Given the description of an element on the screen output the (x, y) to click on. 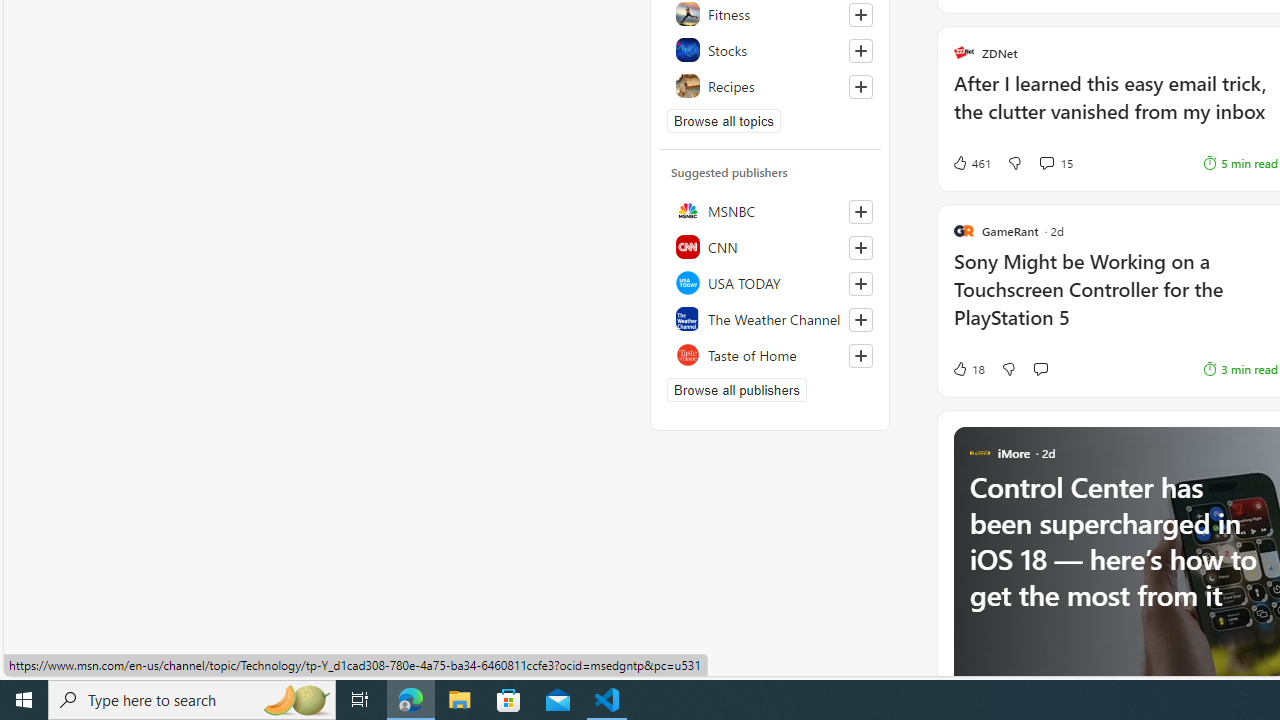
USA TODAY (770, 282)
Follow this topic (860, 86)
Taste of Home (770, 354)
Follow this source (860, 355)
Follow this topic (860, 86)
18 Like (968, 368)
